Given the description of an element on the screen output the (x, y) to click on. 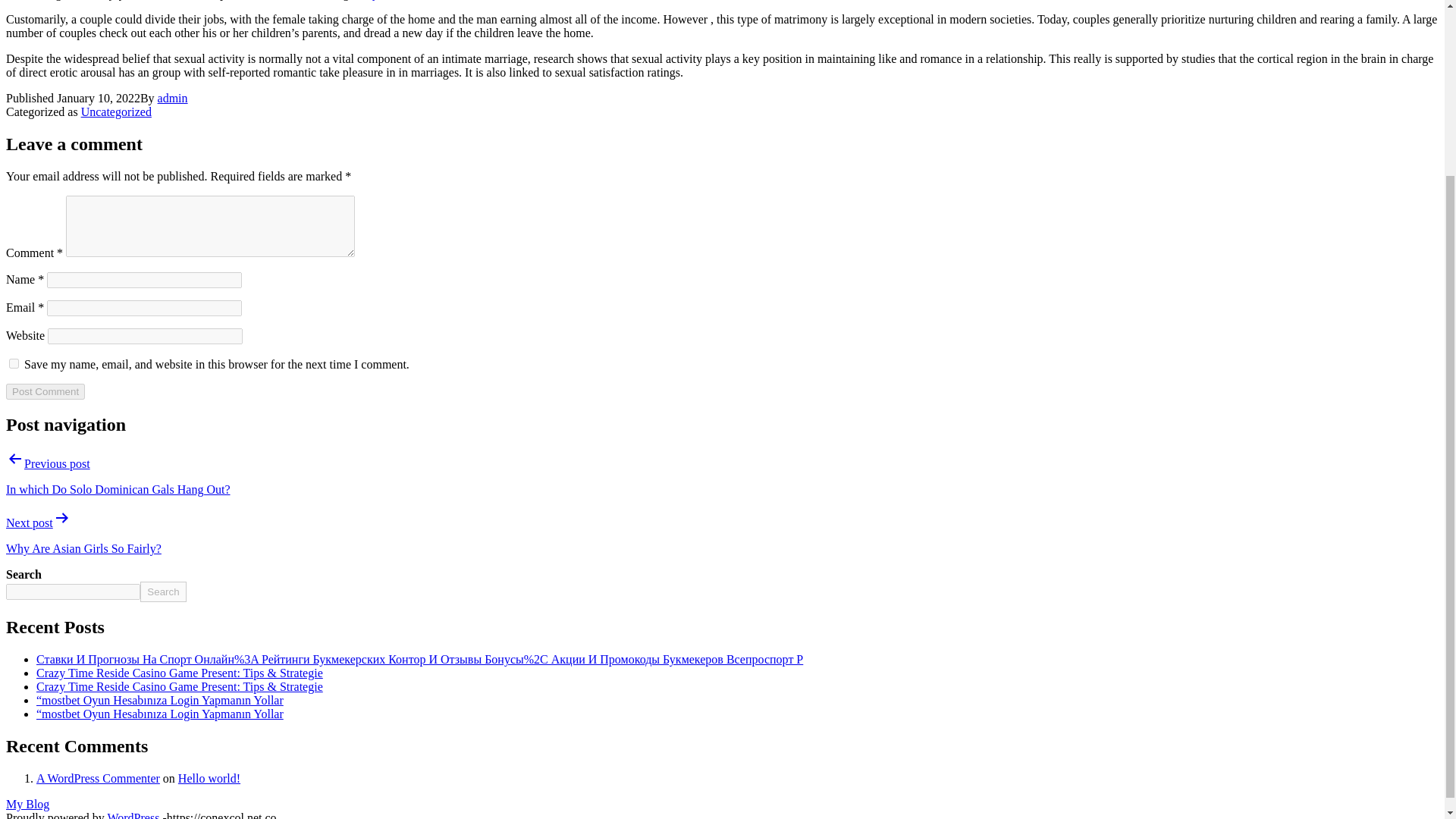
A WordPress Commenter (98, 778)
Uncategorized (116, 111)
Search (162, 591)
My Blog (27, 803)
Post Comment (44, 391)
Hello world! (208, 778)
admin (172, 97)
Post Comment (44, 391)
yes (13, 363)
